Given the description of an element on the screen output the (x, y) to click on. 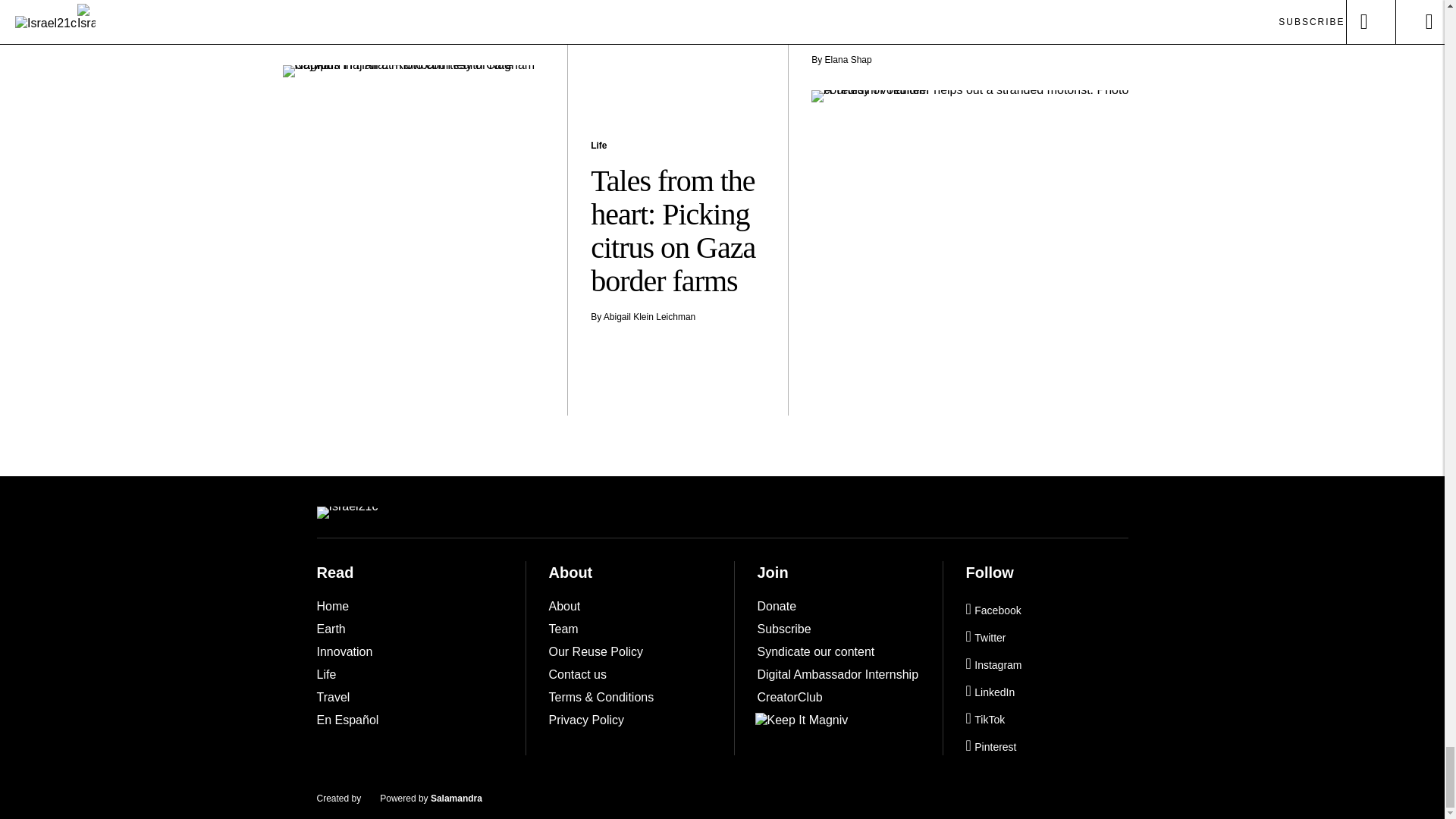
Yulia Karra (317, 34)
Elana Shap (848, 59)
Abigail Klein Leichman (649, 317)
